Given the description of an element on the screen output the (x, y) to click on. 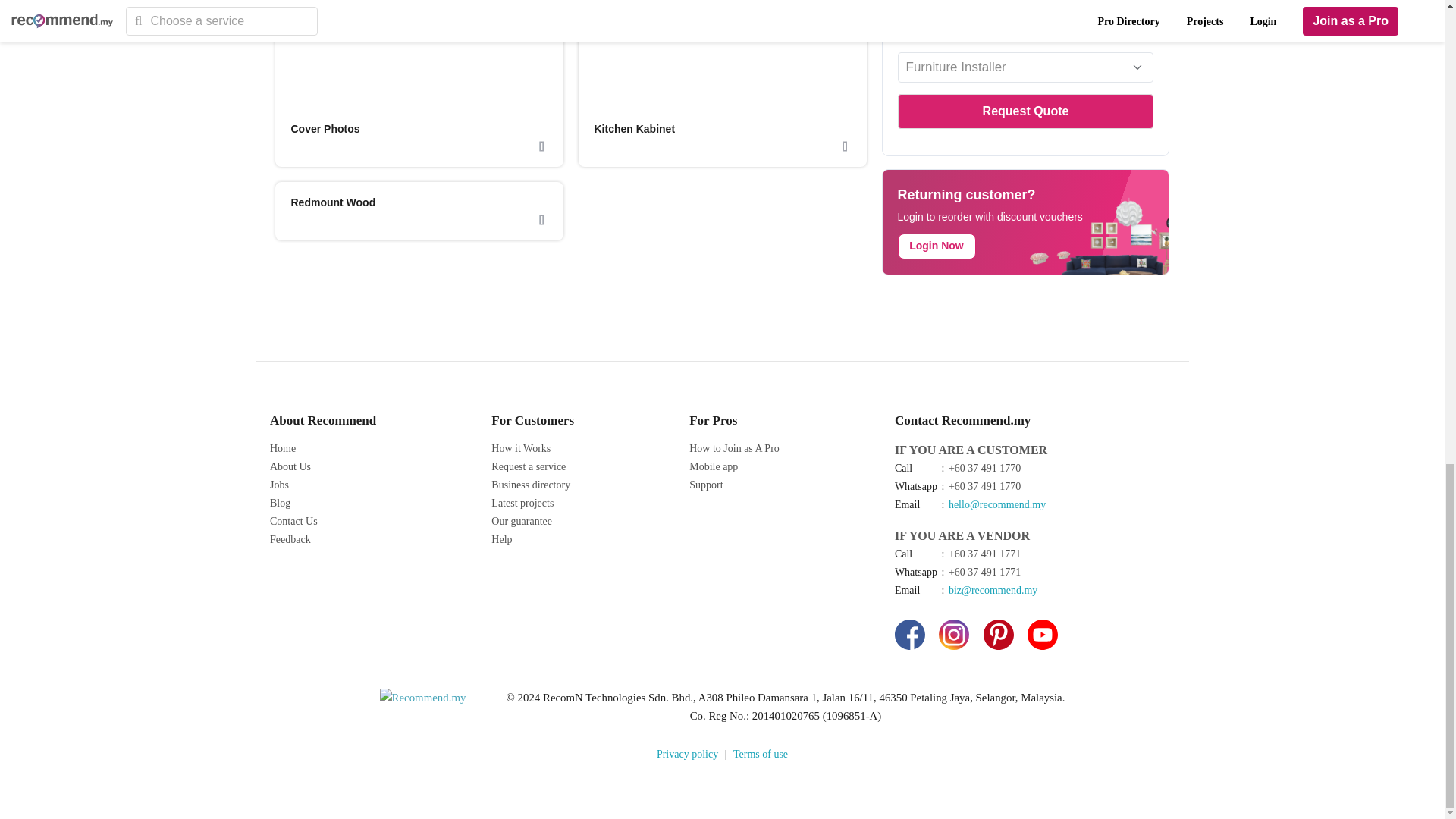
Redmount Wood (333, 202)
Cover Photos (325, 128)
Kitchen Kabinet (634, 128)
